Given the description of an element on the screen output the (x, y) to click on. 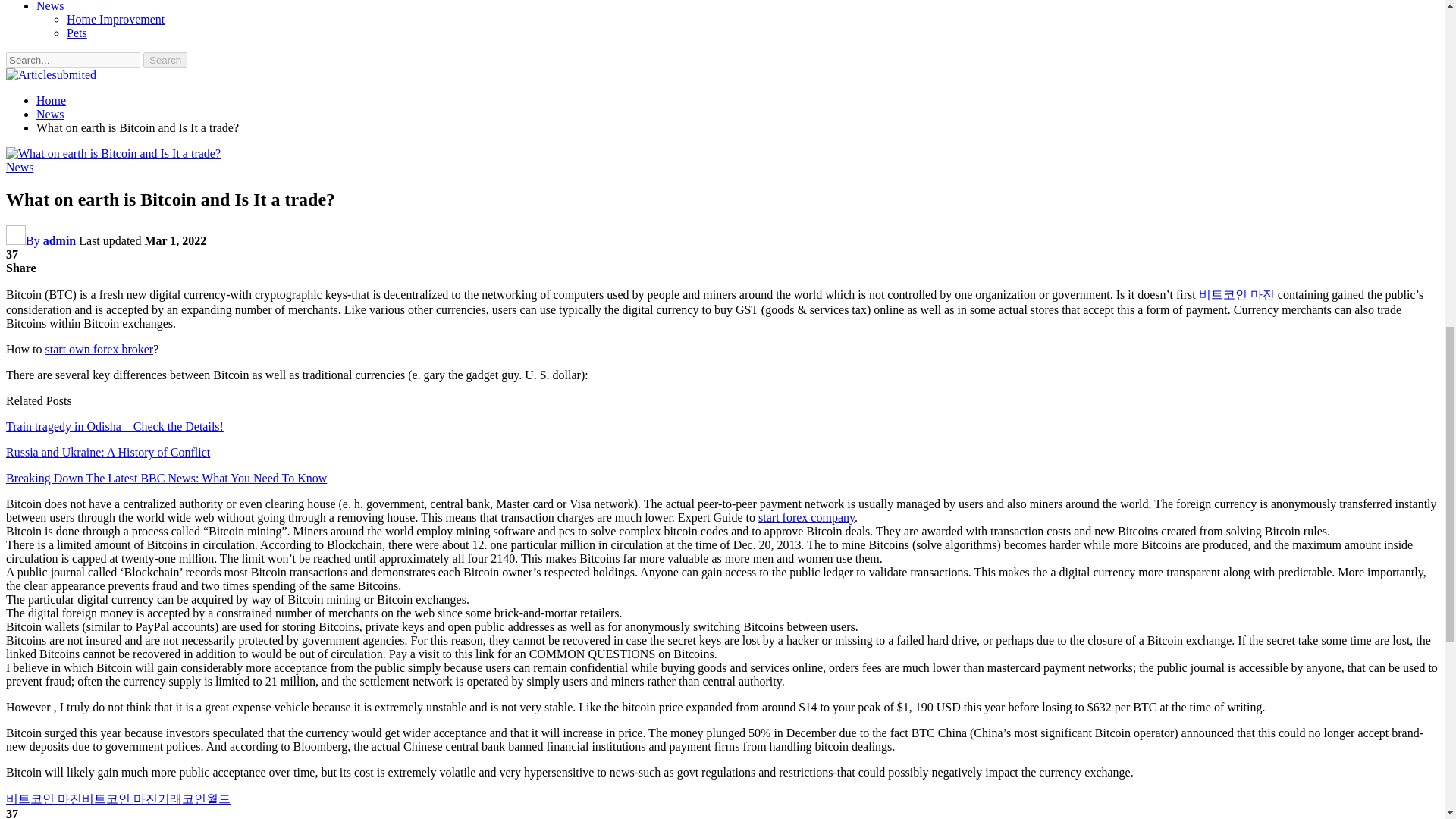
Search for: (72, 59)
Search (164, 59)
What on earth is Bitcoin and Is It a trade? (113, 153)
Browse Author Articles (41, 240)
Search (164, 59)
